Given the description of an element on the screen output the (x, y) to click on. 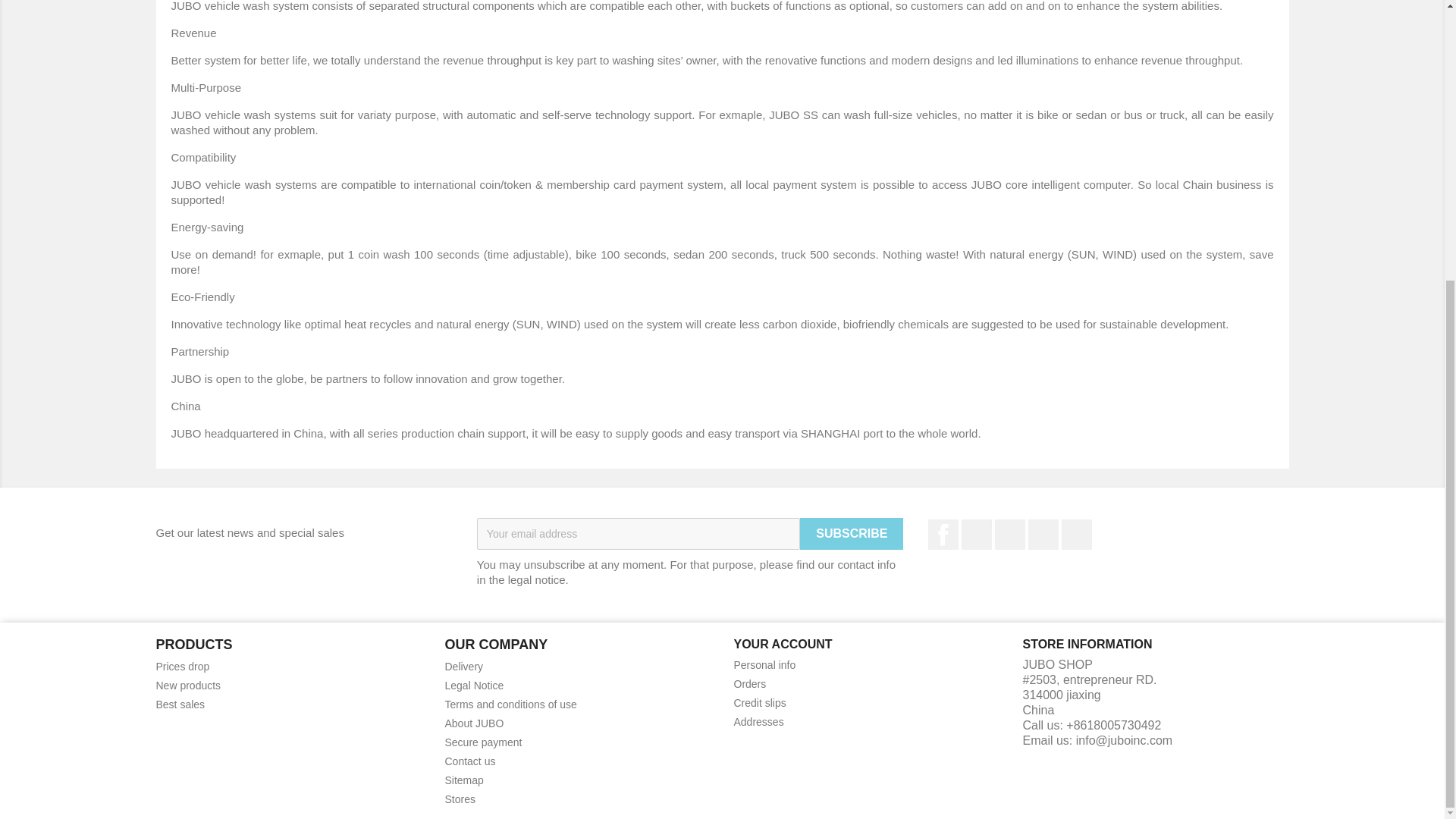
Twitter (975, 534)
Contact us (469, 761)
Our terms and conditions of use (510, 704)
Delivery (463, 666)
Prices drop (182, 666)
About JUBO (473, 723)
New products (188, 685)
Legal Notice (473, 685)
Our best sales (180, 704)
Our new products (188, 685)
